Given the description of an element on the screen output the (x, y) to click on. 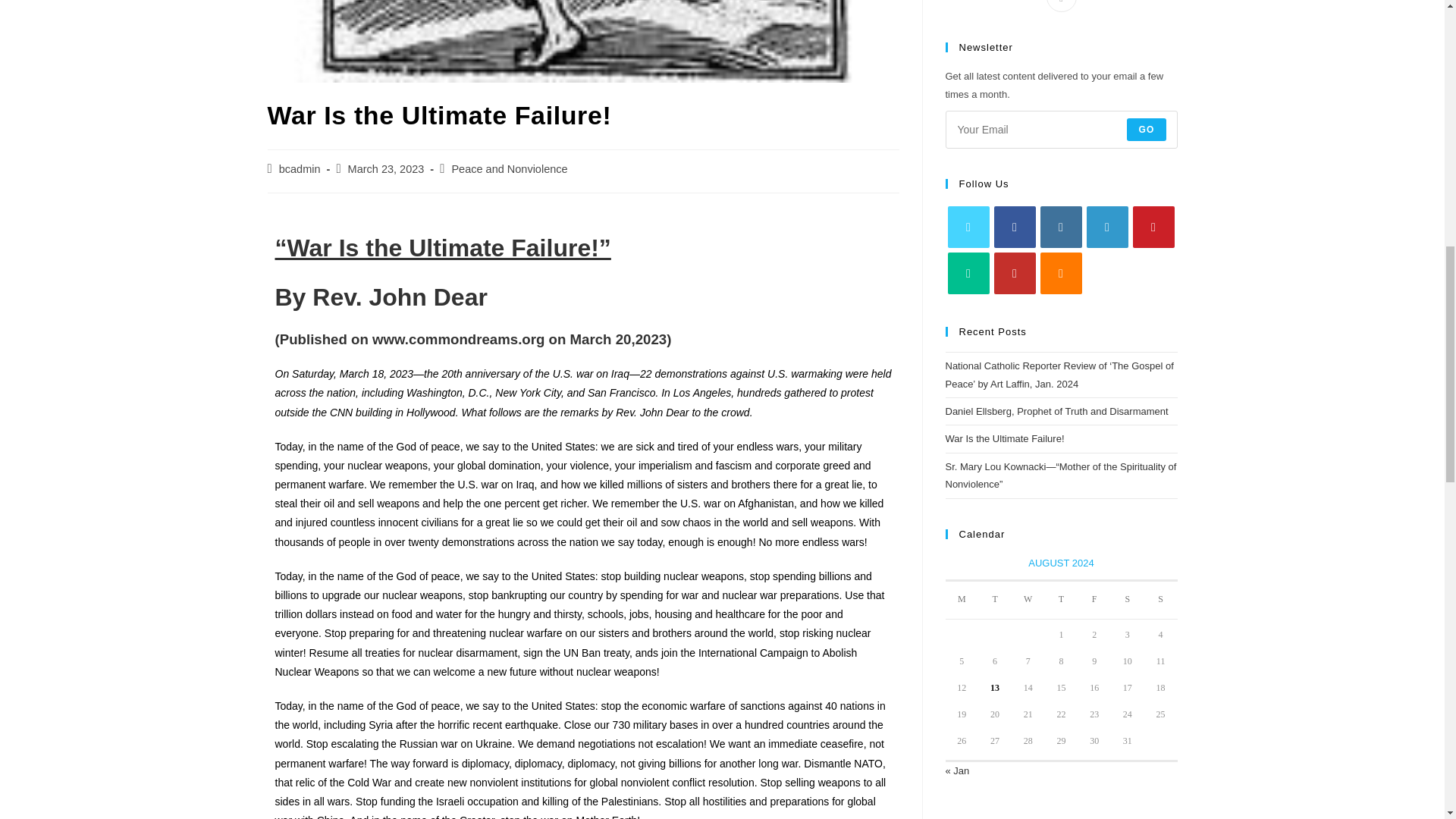
Sunday (1160, 600)
Thursday (1061, 600)
Posts by bcadmin (299, 168)
Tuesday (994, 600)
Saturday (1127, 600)
Monday (961, 600)
Friday (1093, 600)
Wednesday (1028, 600)
